Given the description of an element on the screen output the (x, y) to click on. 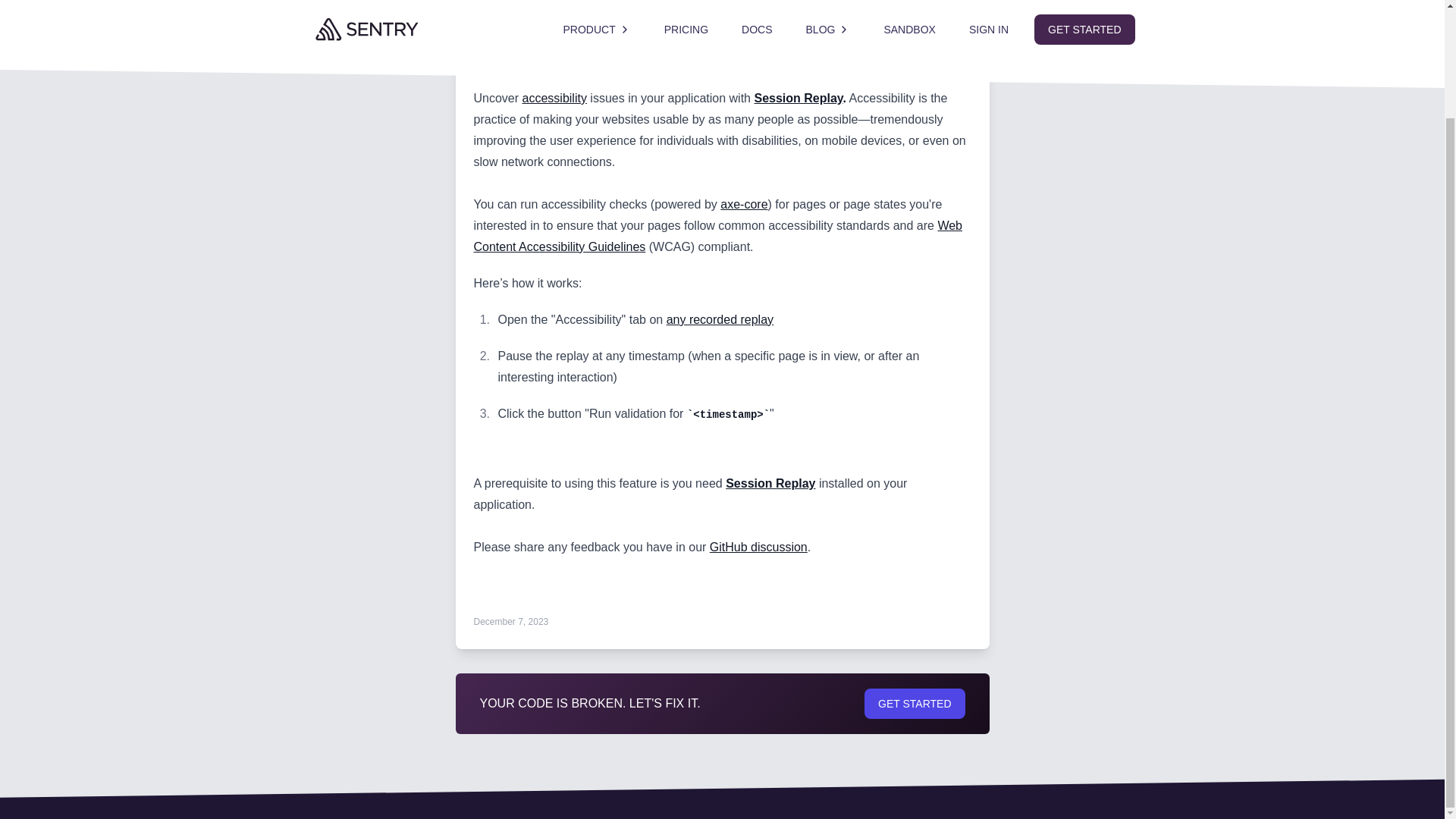
any recorded replay (719, 318)
Session Replay (798, 97)
Web Content Accessibility Guidelines (717, 236)
Session Replay (770, 482)
GET STARTED (913, 703)
GitHub discussion (759, 546)
axe-core (743, 204)
accessibility (554, 97)
